Given the description of an element on the screen output the (x, y) to click on. 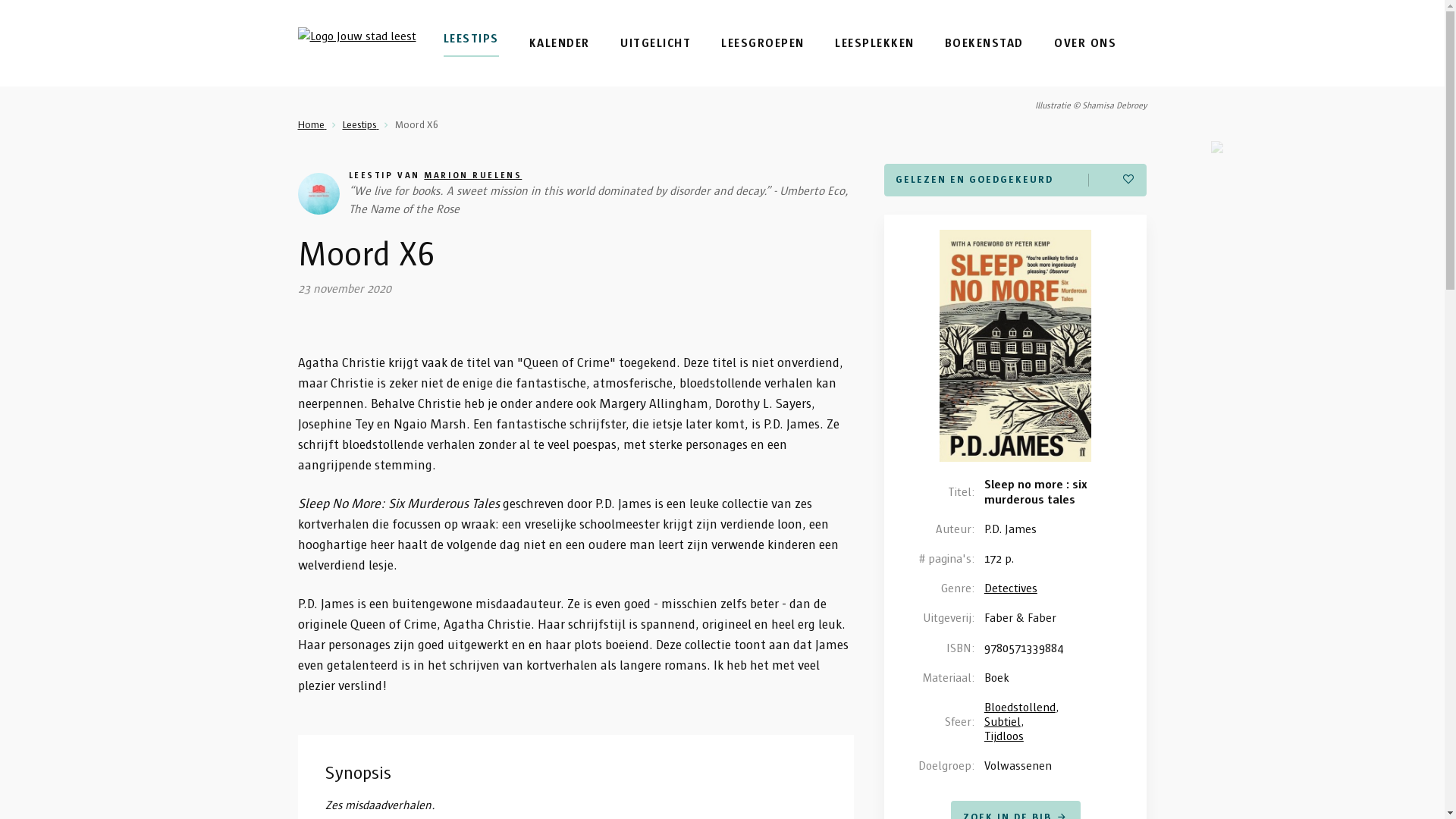
UITGELICHT Element type: text (655, 42)
Subtiel Element type: text (1002, 721)
BOEKENSTAD Element type: text (983, 42)
LEESGROEPEN Element type: text (762, 42)
Home Element type: text (311, 124)
Bloedstollend Element type: text (1019, 706)
Moord X6 Element type: text (415, 124)
LEESPLEKKEN Element type: text (874, 42)
LEESTIPS Element type: text (470, 42)
KALENDER Element type: text (559, 42)
Tijdloos Element type: text (1003, 735)
Leestips Element type: text (360, 124)
MARION RUELENS Element type: text (472, 174)
Detectives Element type: text (1010, 587)
OVER ONS Element type: text (1085, 42)
